Given the description of an element on the screen output the (x, y) to click on. 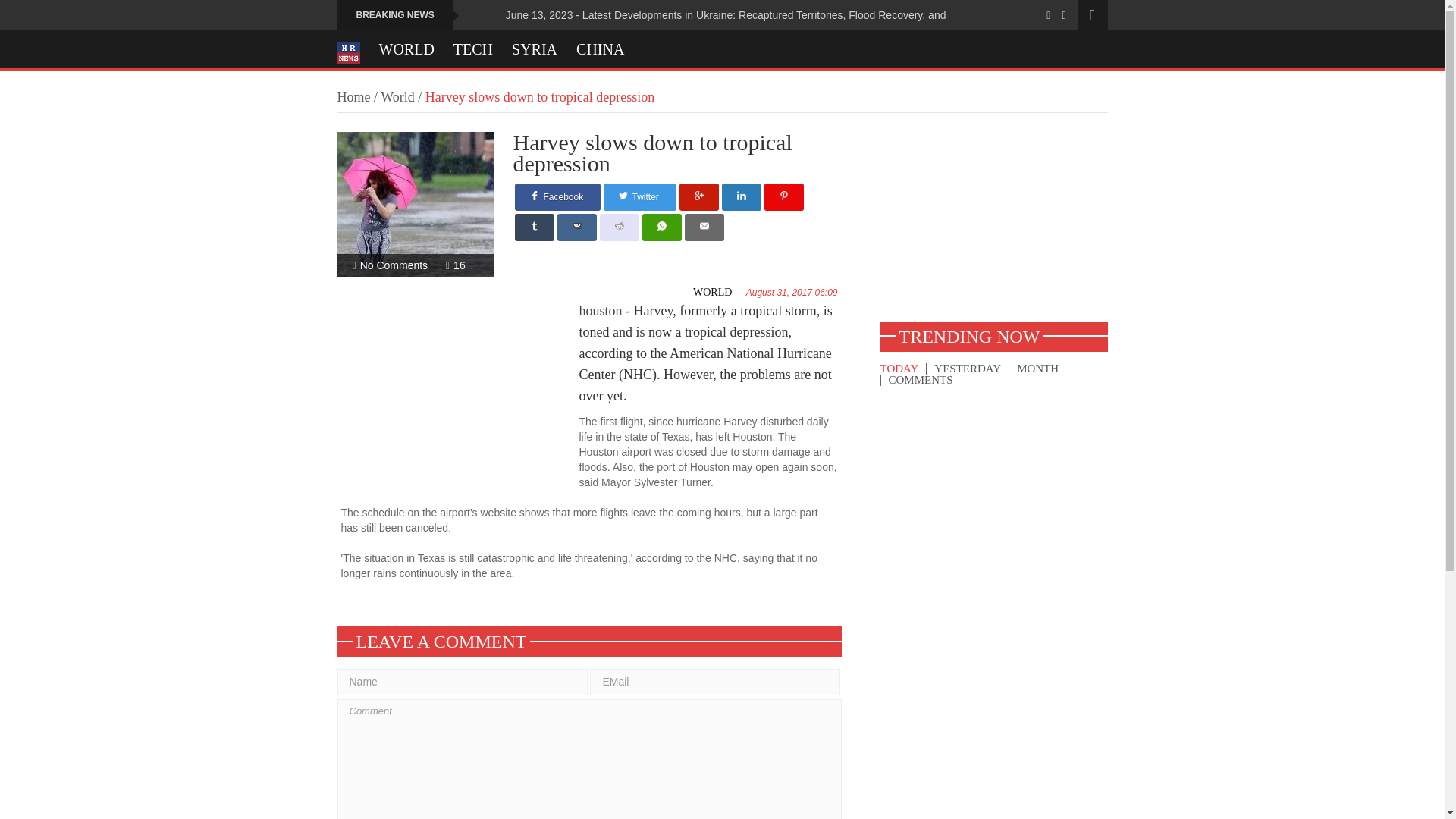
Advertisement (459, 400)
Home (352, 96)
No Comments (393, 265)
WORLD (712, 292)
Comment on Harvey slows down to tropical depression (393, 265)
Advertisement (992, 226)
WORLD (405, 48)
World (397, 96)
houston (601, 310)
SYRIA (534, 48)
